Given the description of an element on the screen output the (x, y) to click on. 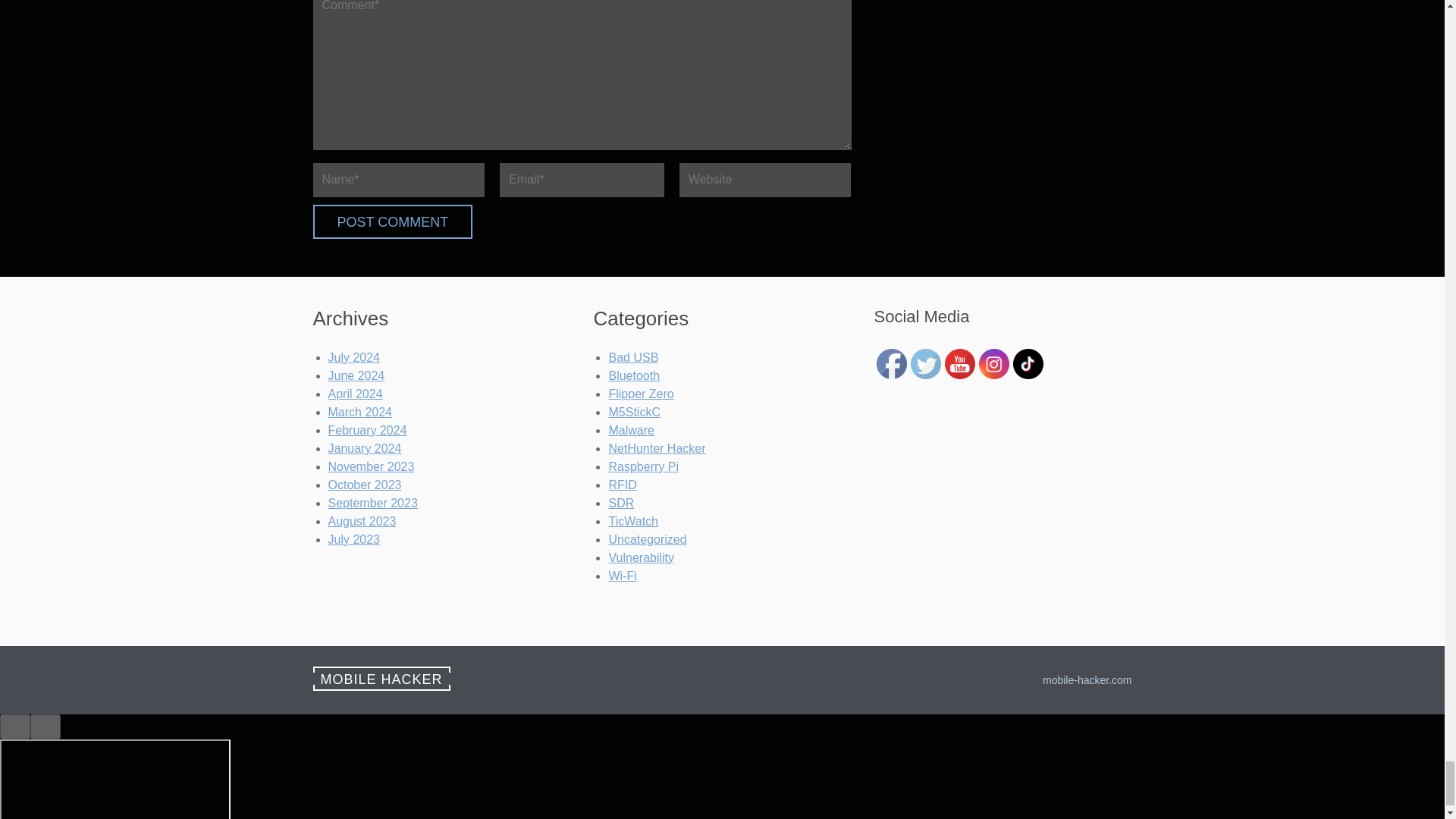
Facebook (891, 363)
YouTube (959, 363)
Post Comment (392, 221)
Twitter (925, 363)
